Given the description of an element on the screen output the (x, y) to click on. 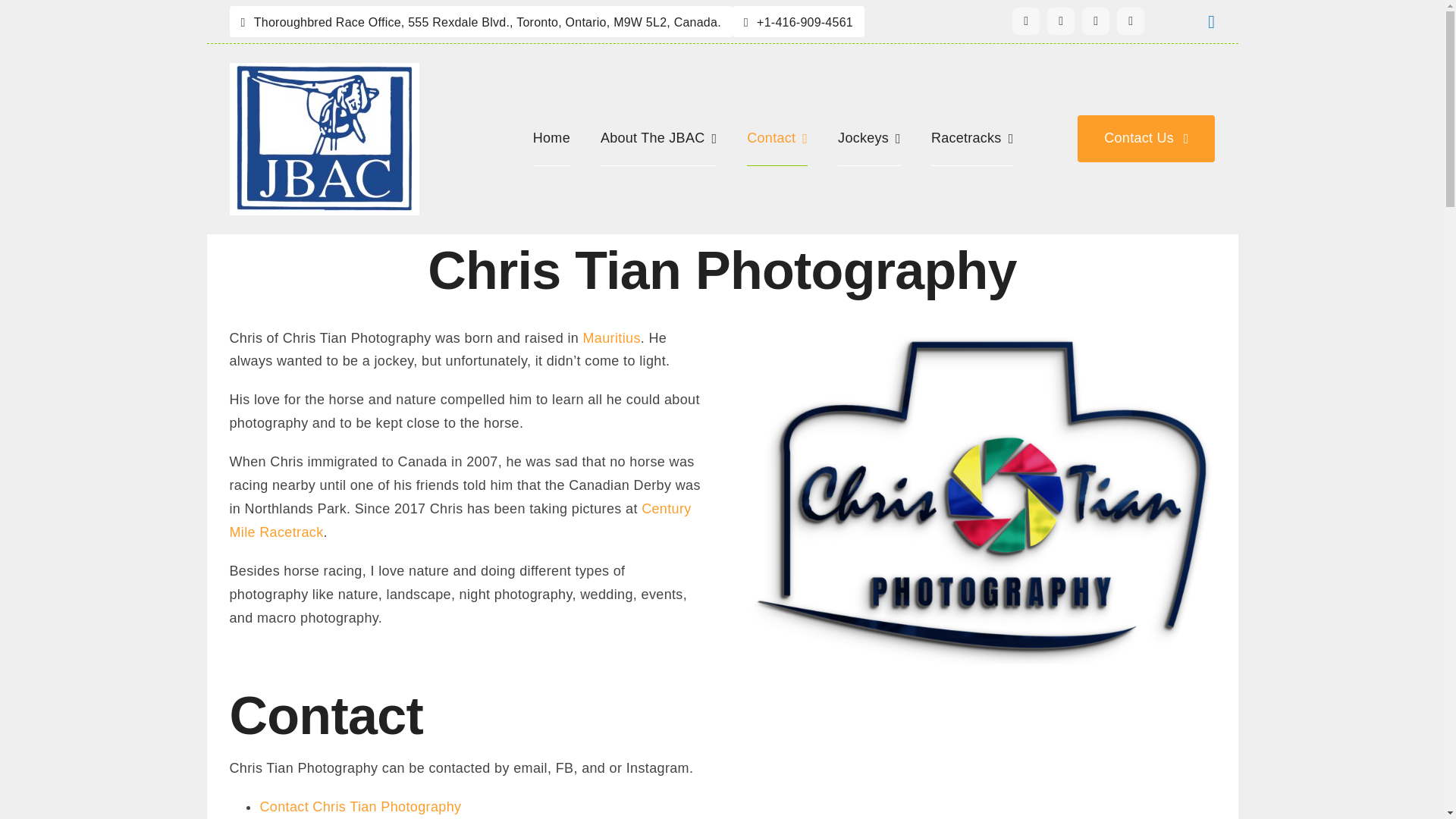
Jockeys (869, 138)
Contact (777, 138)
About The JBAC (657, 138)
Chris Tian Photography (721, 280)
